Given the description of an element on the screen output the (x, y) to click on. 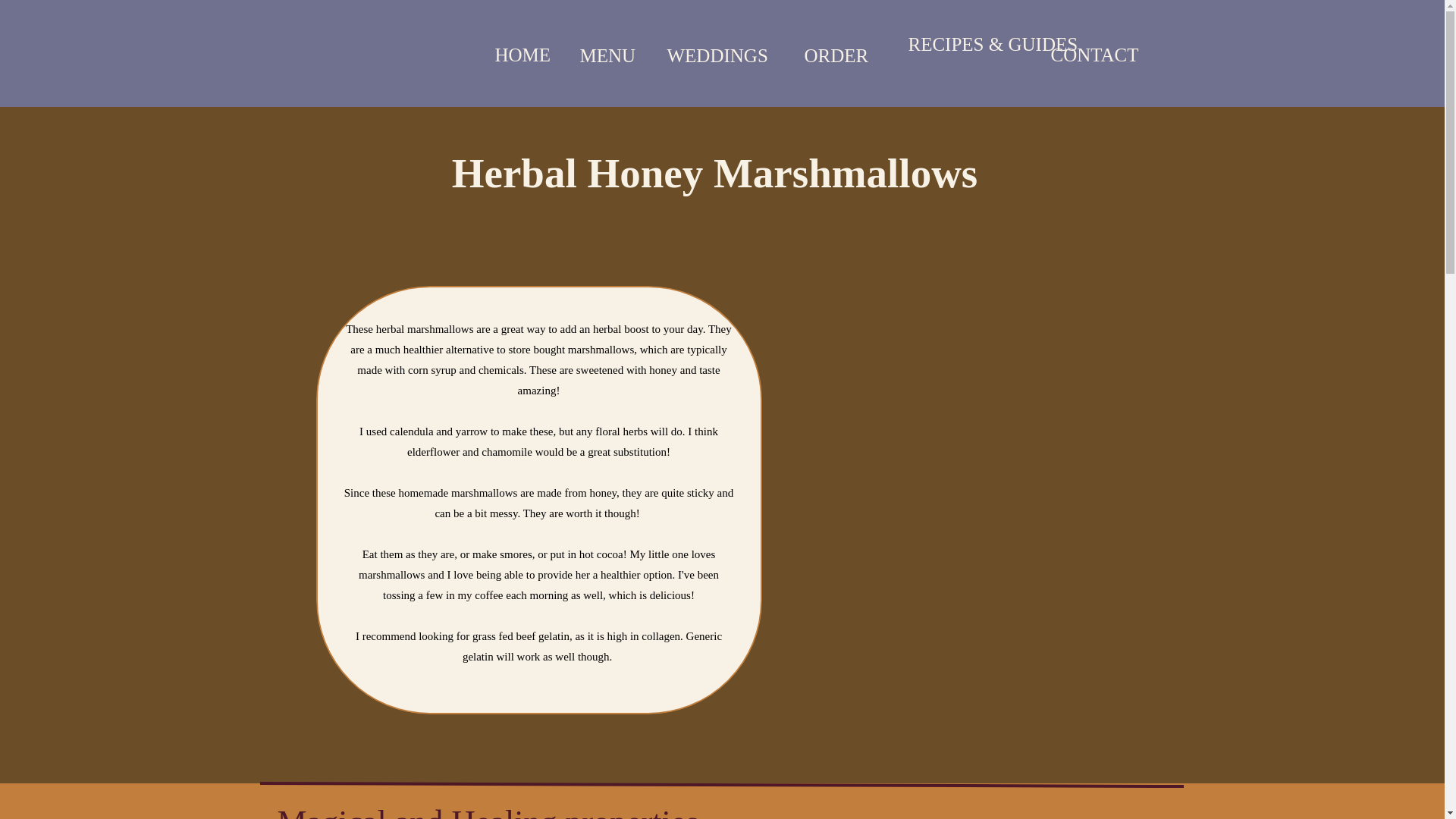
ORDER (839, 57)
HOME (535, 57)
MENU (615, 57)
CONTACT (1104, 56)
WEDDINGS (707, 58)
